Given the description of an element on the screen output the (x, y) to click on. 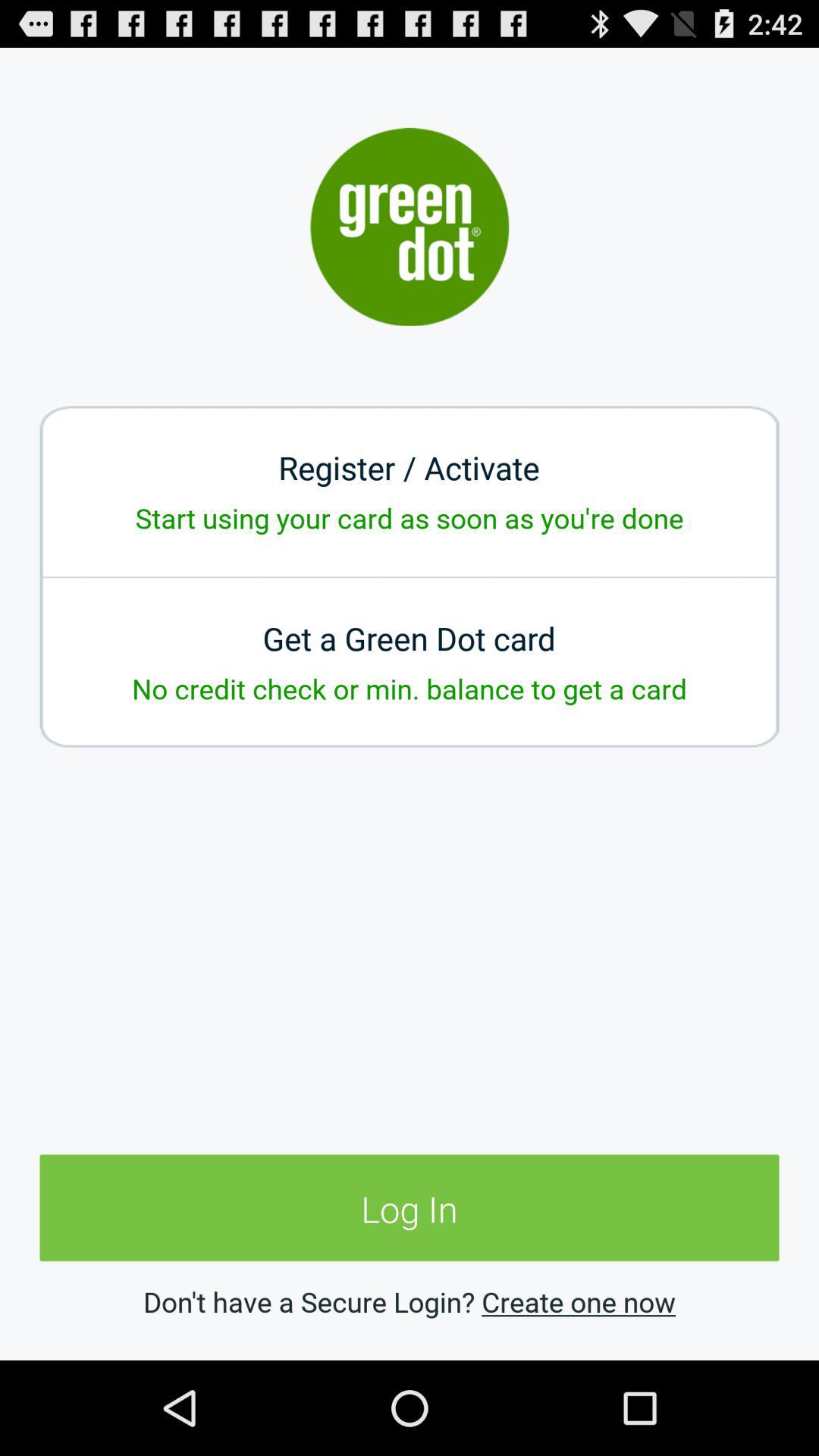
launch the app to the right of the don t have app (578, 1301)
